Given the description of an element on the screen output the (x, y) to click on. 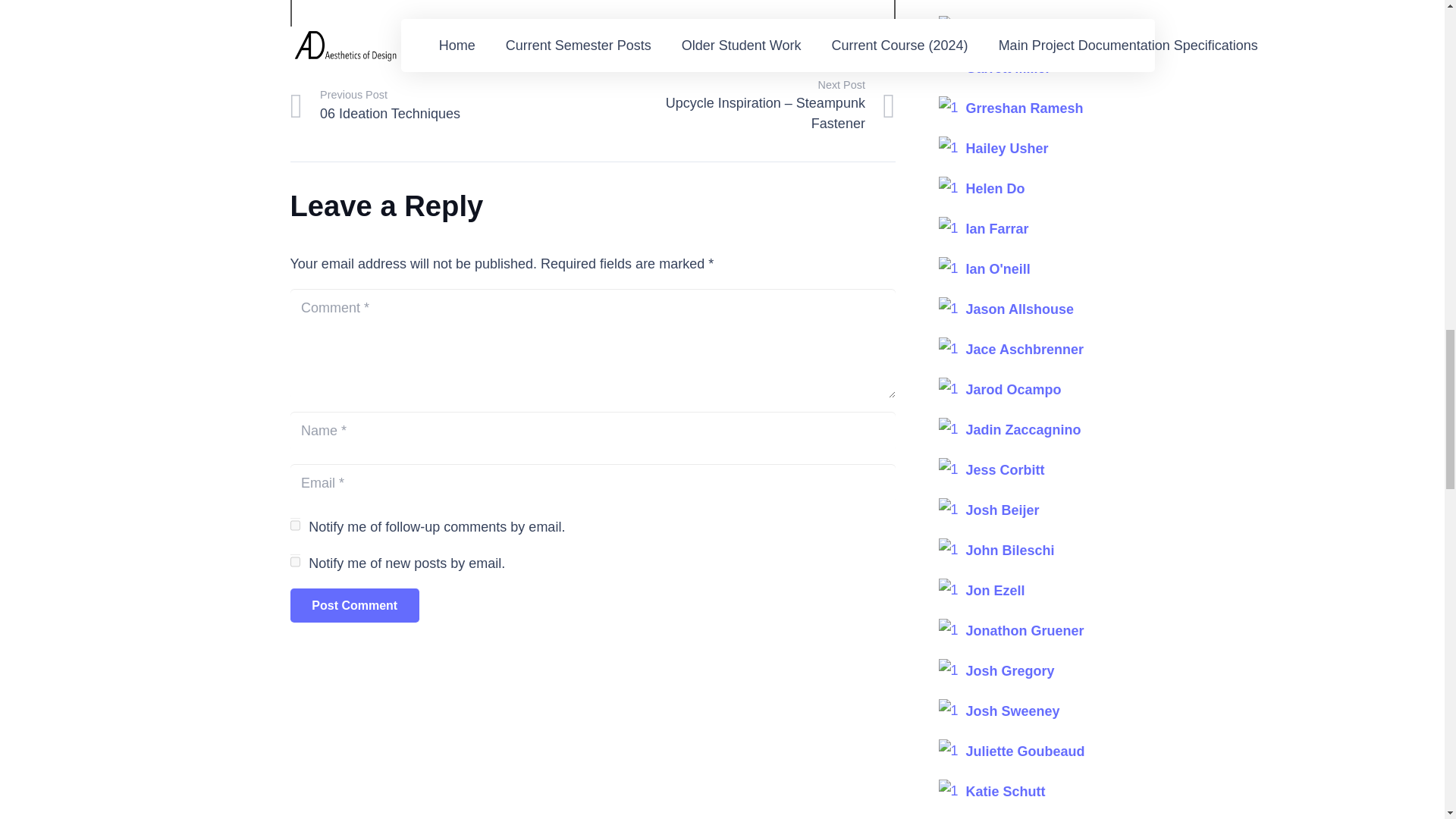
06 Ideation Techniques (440, 105)
